Given the description of an element on the screen output the (x, y) to click on. 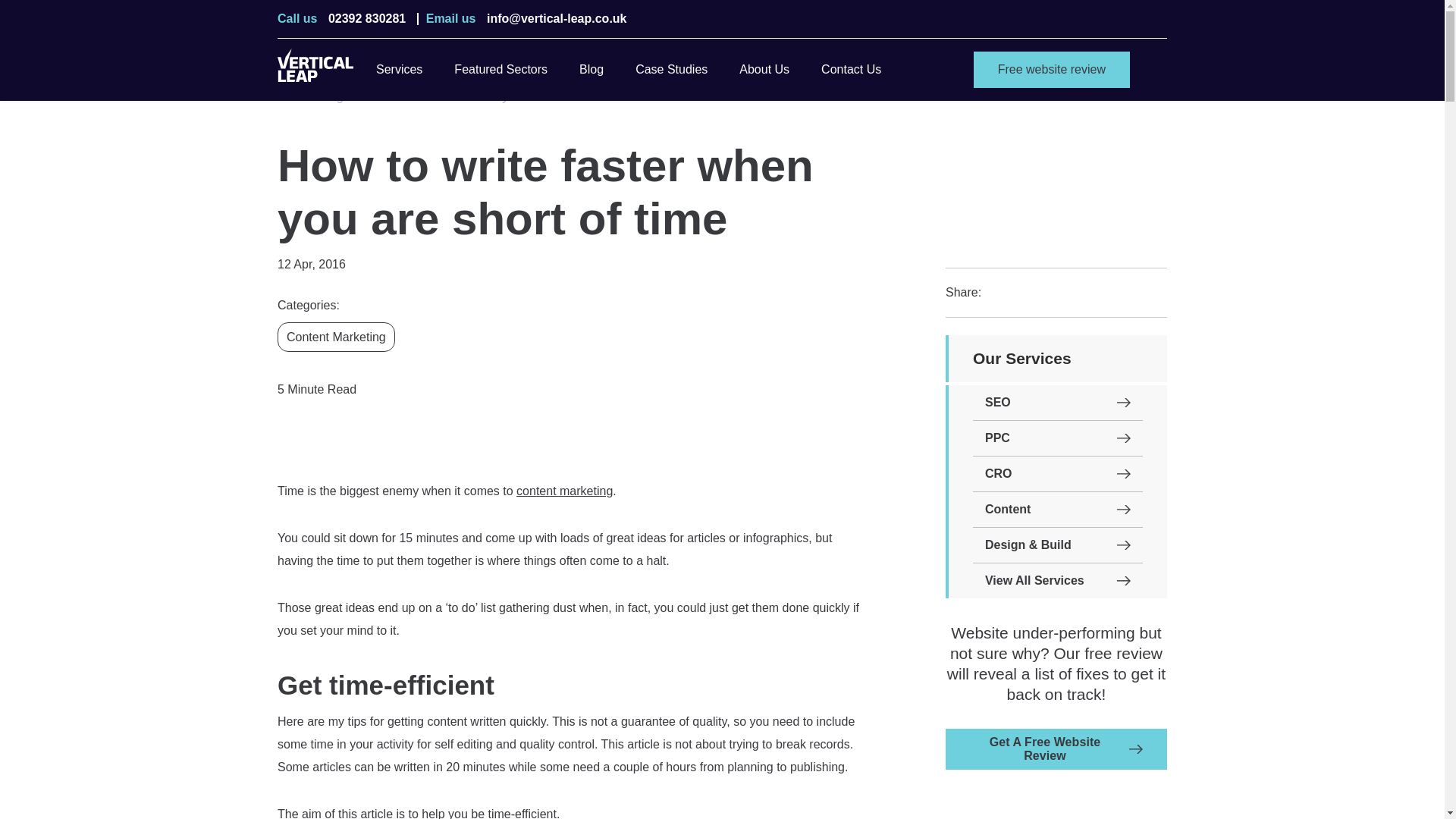
Visit the Contact Page (850, 69)
Visit the Vertical Leap home page (315, 69)
Featured Sectors (500, 69)
Content Marketing (336, 337)
content marketing (564, 490)
Free website review (1051, 69)
02392 830281 (367, 19)
Visit the Case Studies  Page (670, 69)
Contact Us (850, 69)
Blog (333, 96)
Home (296, 96)
Case Studies (670, 69)
